Given the description of an element on the screen output the (x, y) to click on. 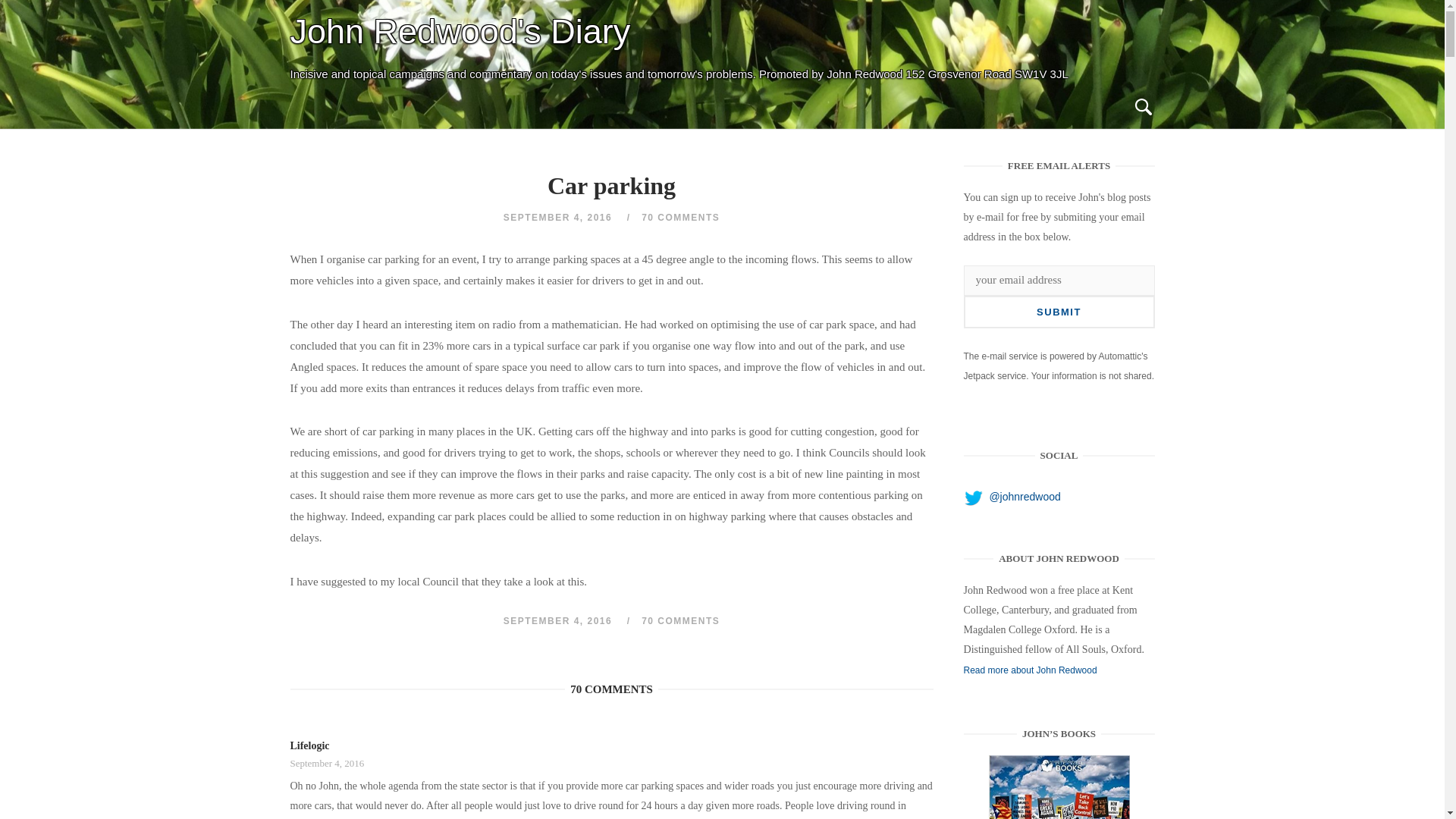
Car parking (1058, 787)
Submit (1058, 311)
Read more about John Redwood (1030, 670)
Submit (1058, 311)
Search the diary for relevant articles (1142, 107)
